Given the description of an element on the screen output the (x, y) to click on. 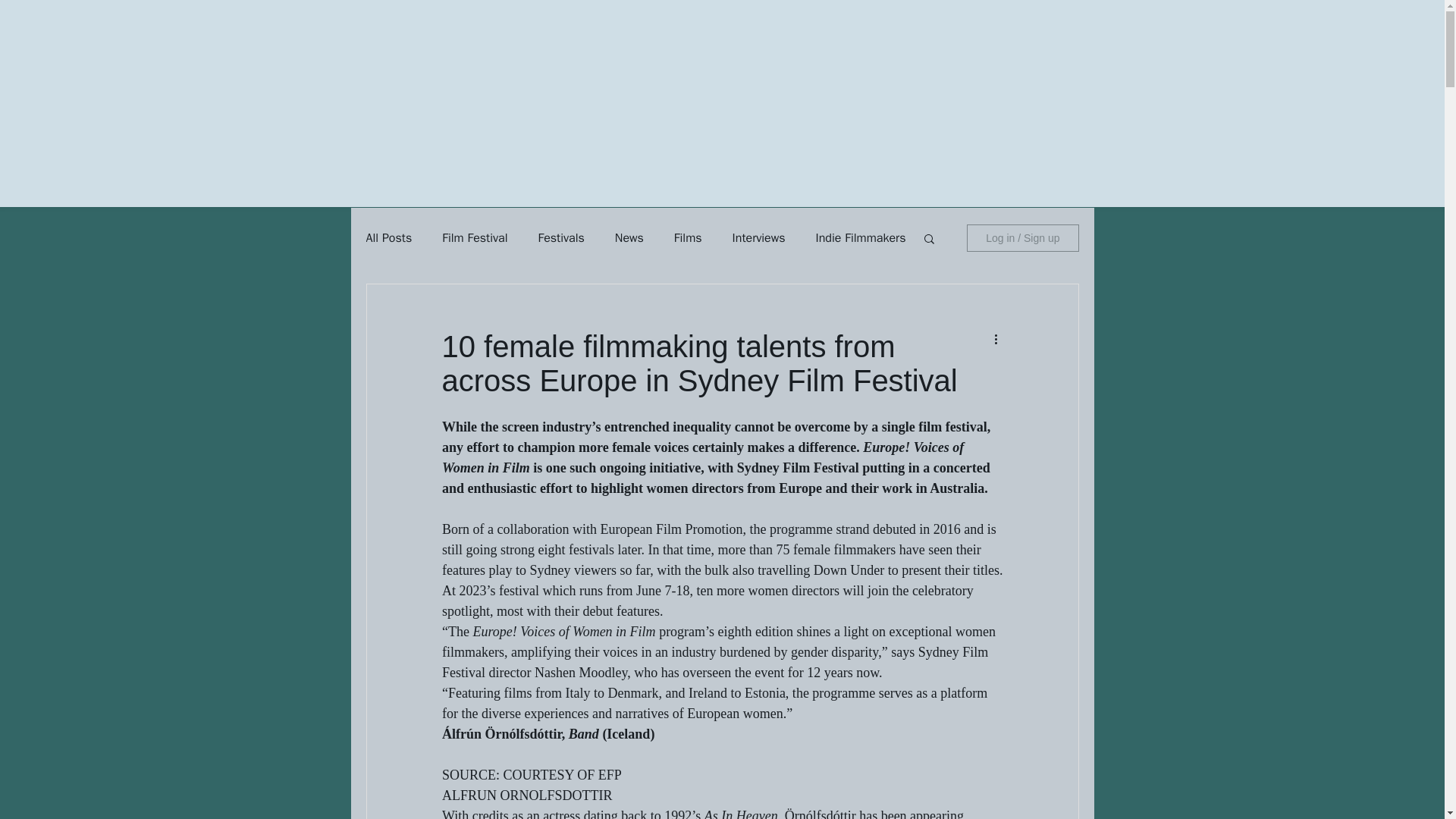
All Posts (388, 238)
Films (687, 238)
Interviews (759, 238)
Festivals (560, 238)
Indie Filmmakers (860, 238)
Film Festival (474, 238)
News (628, 238)
